Given the description of an element on the screen output the (x, y) to click on. 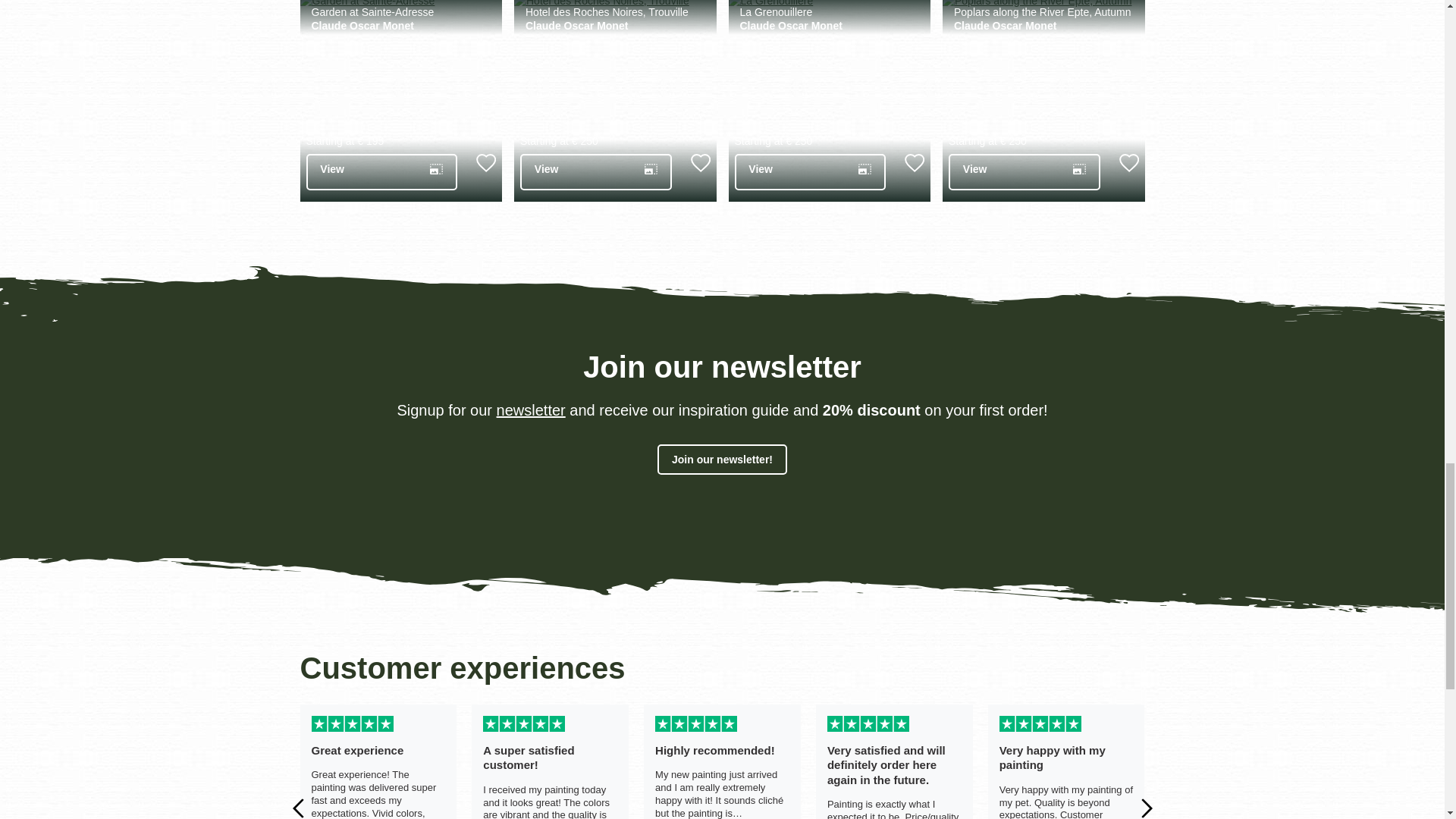
Add to wishlist (486, 162)
Add to wishlist (700, 162)
Add to wishlist (1128, 162)
Add to wishlist (914, 162)
